Given the description of an element on the screen output the (x, y) to click on. 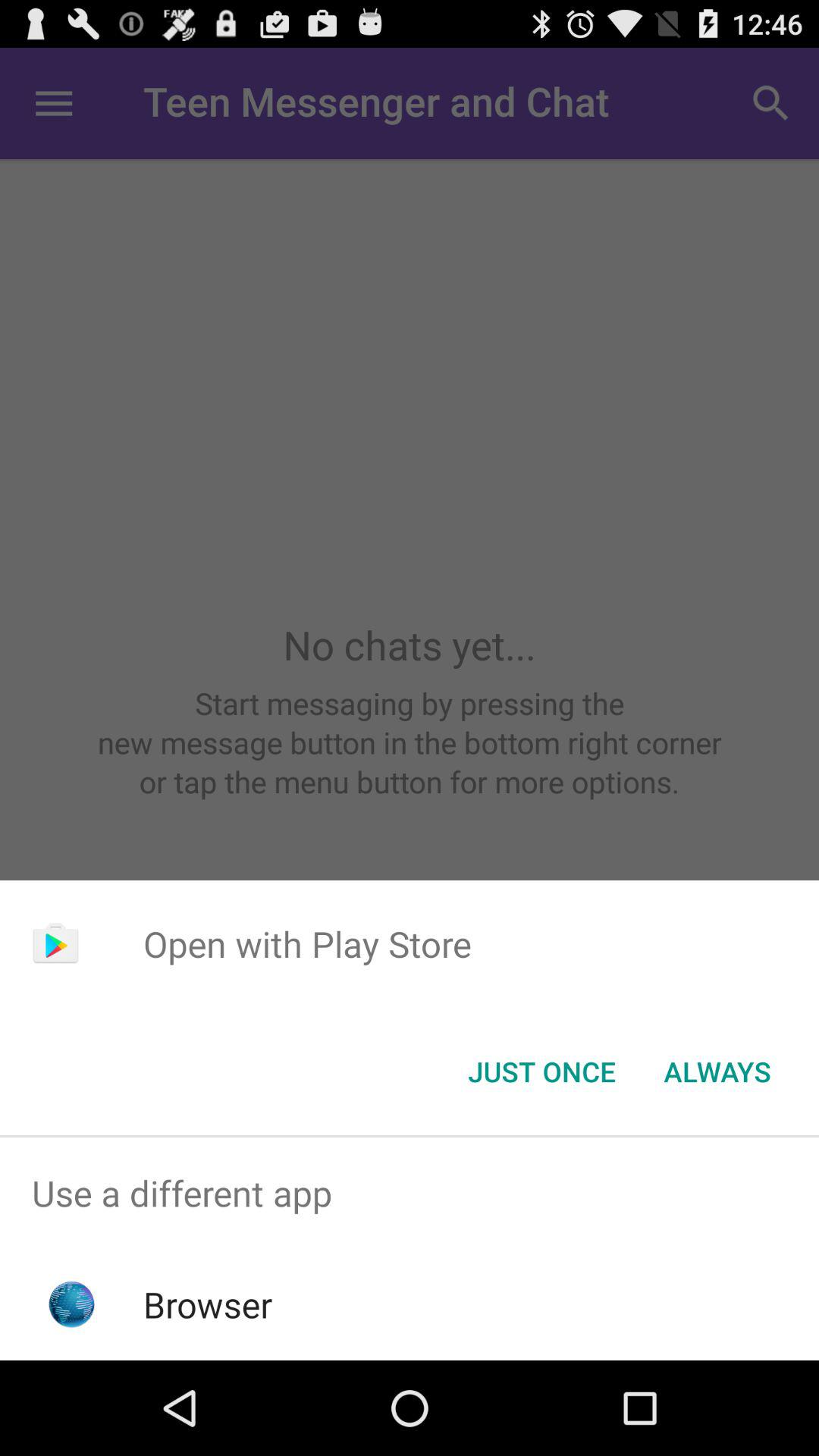
choose icon to the left of always item (541, 1071)
